Given the description of an element on the screen output the (x, y) to click on. 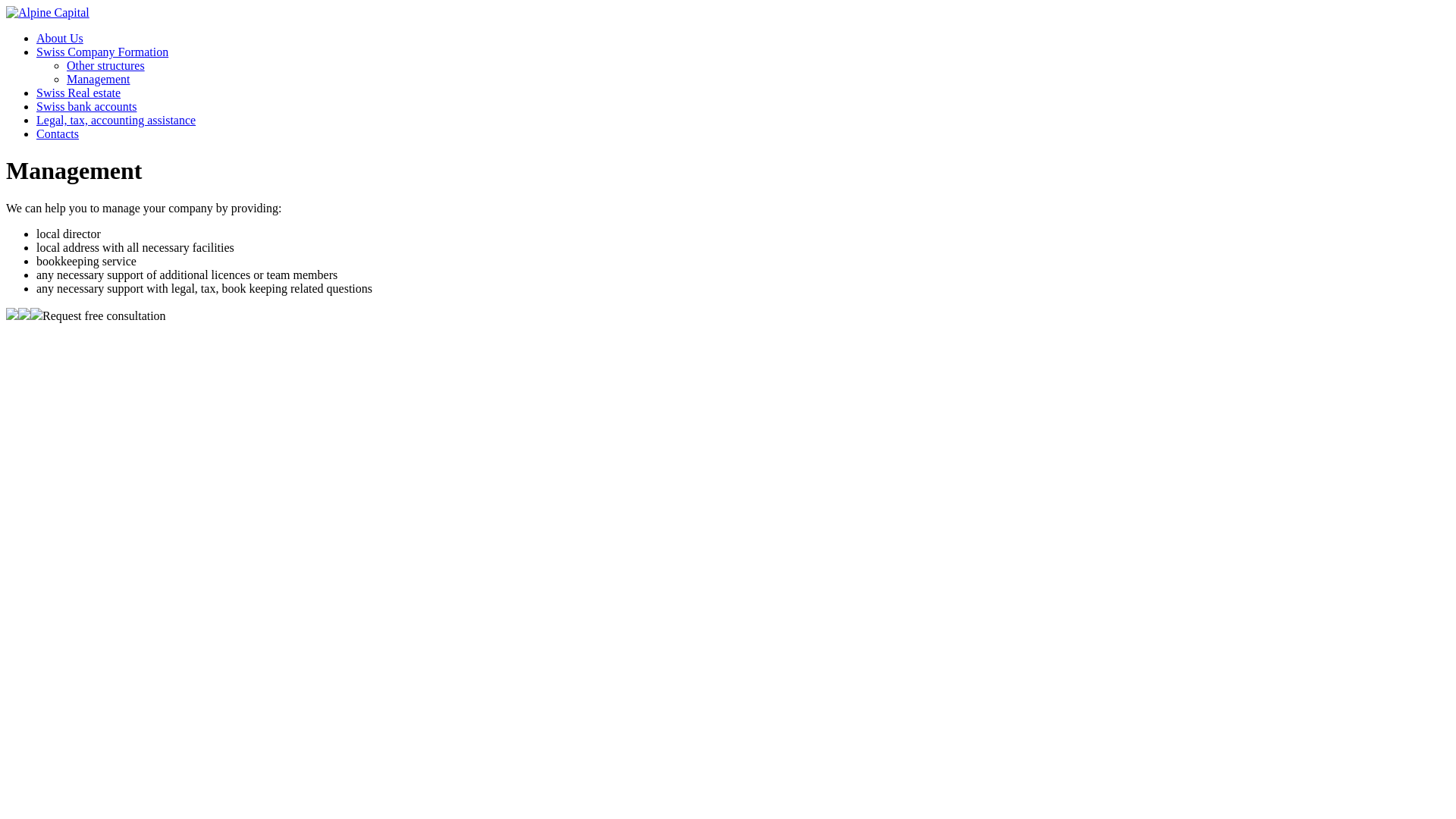
Management Element type: text (98, 78)
Contacts Element type: text (57, 133)
Legal, tax, accounting assistance Element type: text (115, 119)
Request free consultation Element type: text (104, 315)
Other structures Element type: text (105, 65)
Swiss Real estate Element type: text (78, 92)
About Us Element type: text (59, 37)
Swiss Company Formation Element type: text (102, 51)
Swiss bank accounts Element type: text (86, 106)
